Given the description of an element on the screen output the (x, y) to click on. 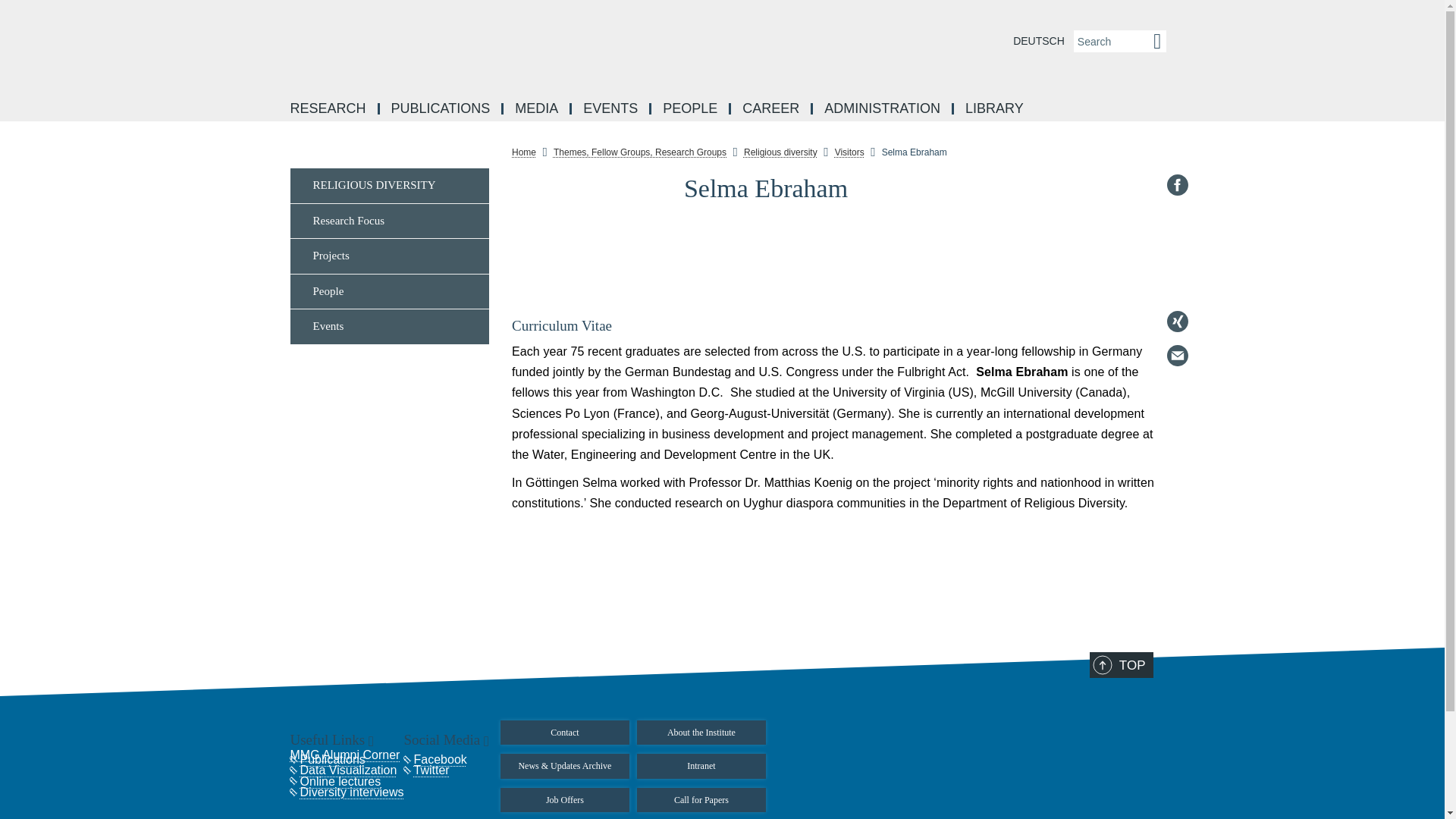
LinkedIn (1177, 219)
Twitter (1177, 287)
Reddit (1177, 252)
RESEARCH (329, 108)
Xing (1177, 321)
Facebook (1177, 184)
E-Mail (1177, 354)
Print (1177, 389)
DEUTSCH (1038, 41)
